Given the description of an element on the screen output the (x, y) to click on. 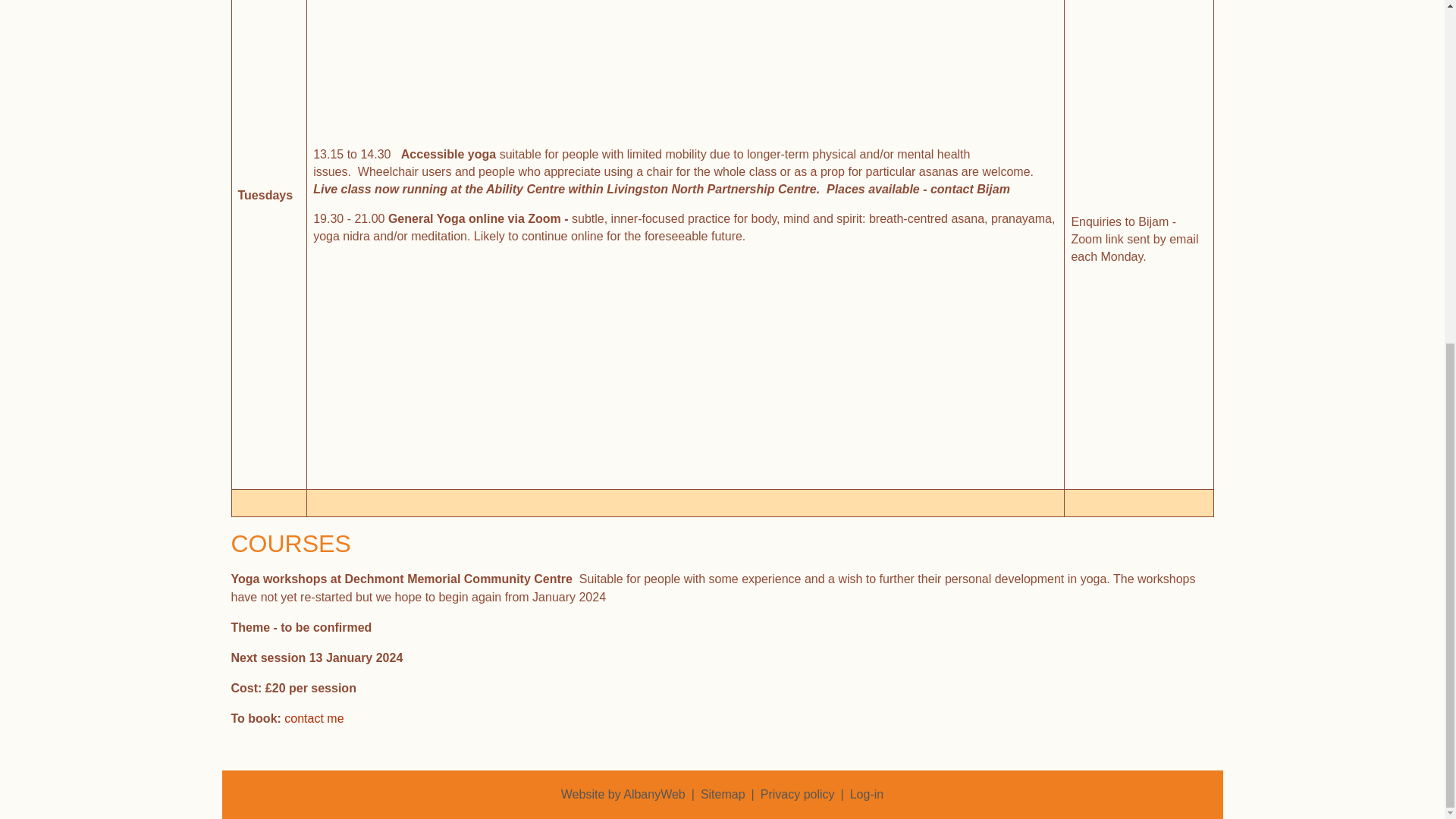
Log-in (866, 793)
AlbanyWeb (654, 793)
contact me (313, 717)
Sitemap (722, 793)
Privacy policy (797, 793)
